Given the description of an element on the screen output the (x, y) to click on. 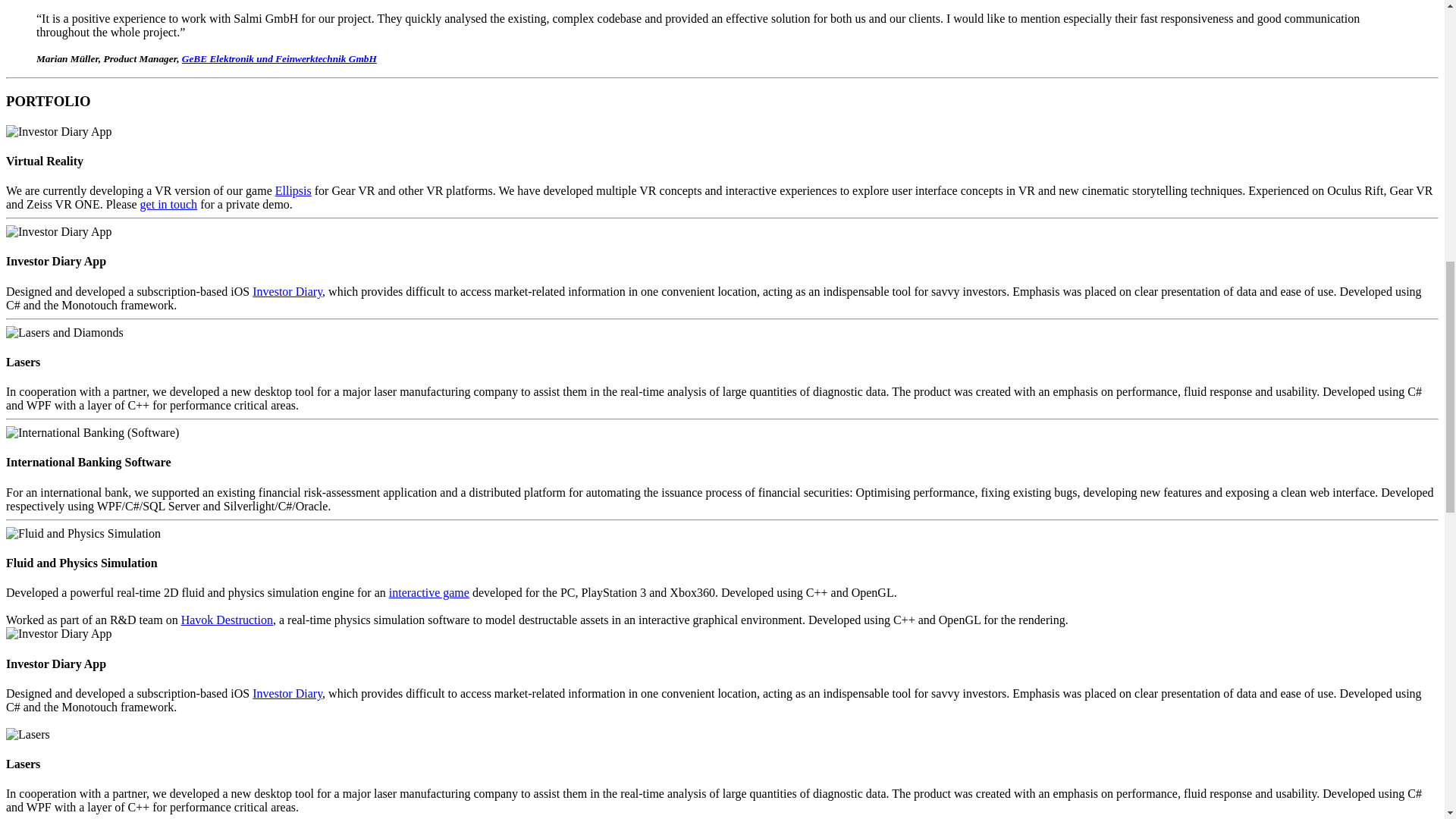
get in touch (168, 204)
Investor Diary (286, 291)
GeBE Elektronik und Feinwerktechnik GmbH (279, 58)
Investor Diary (286, 693)
Ellipsis (293, 190)
Havok Destruction (226, 619)
interactive game (428, 592)
